Given the description of an element on the screen output the (x, y) to click on. 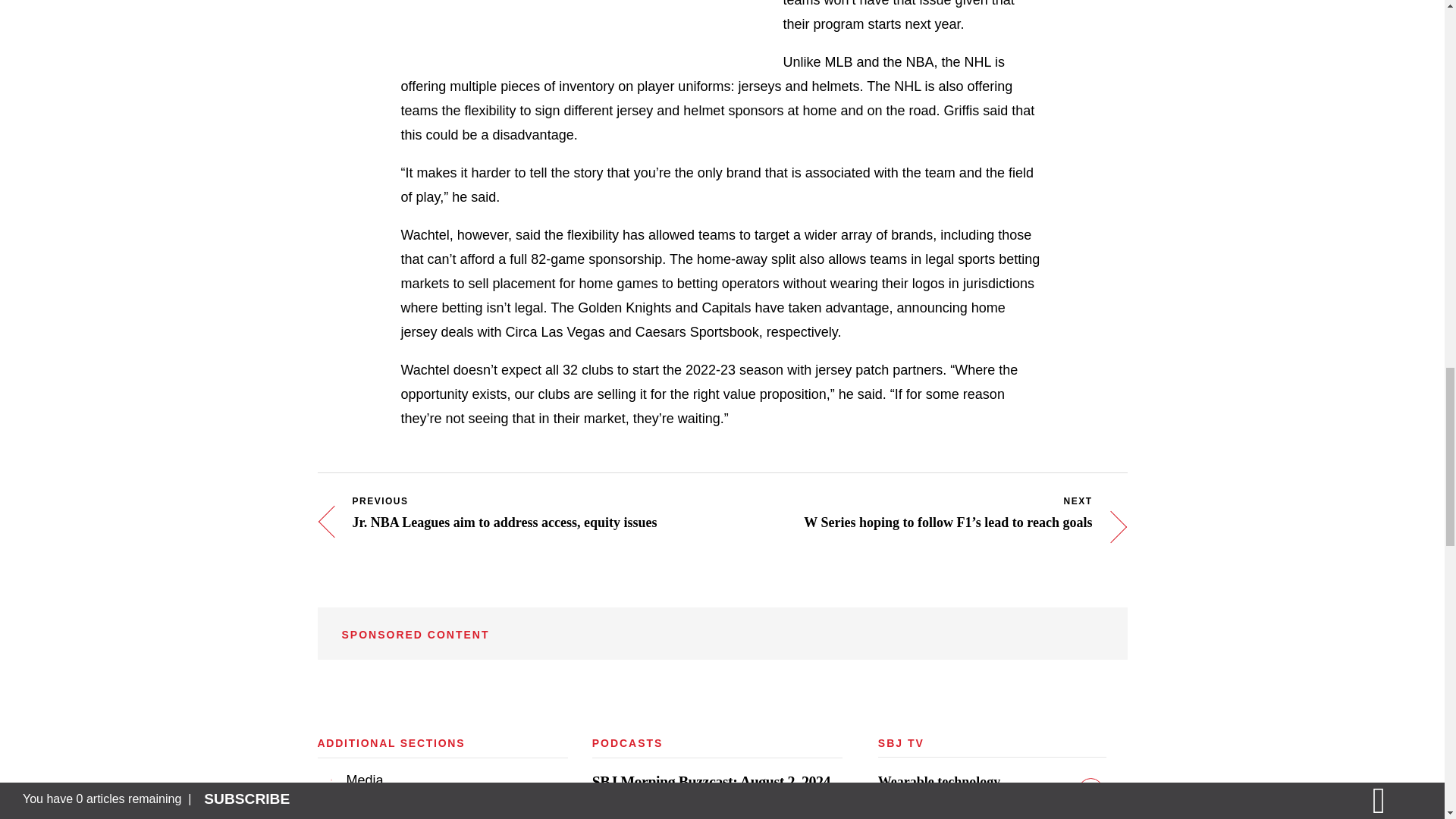
Announced NHL Jersey Patch Deals (561, 12)
